Given the description of an element on the screen output the (x, y) to click on. 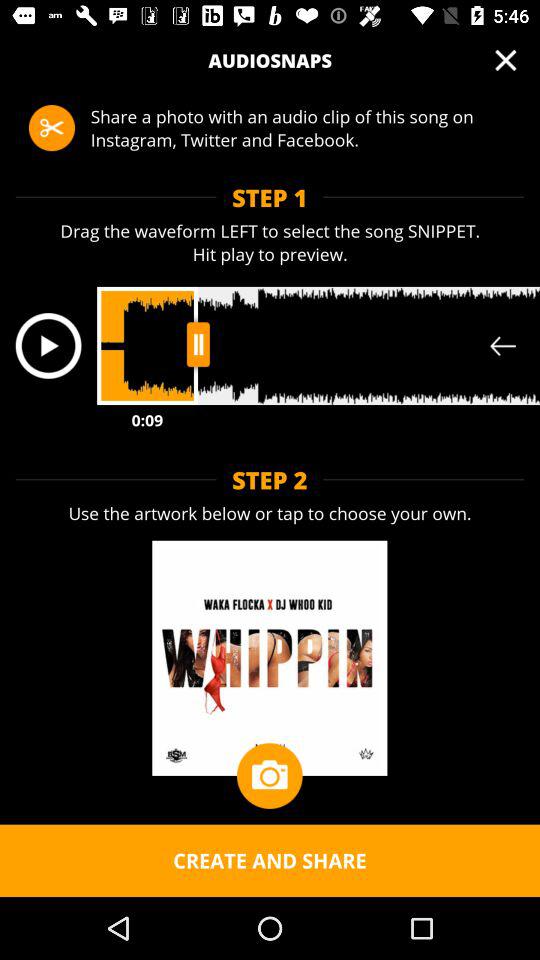
launch item above the 0:09 item (48, 345)
